Given the description of an element on the screen output the (x, y) to click on. 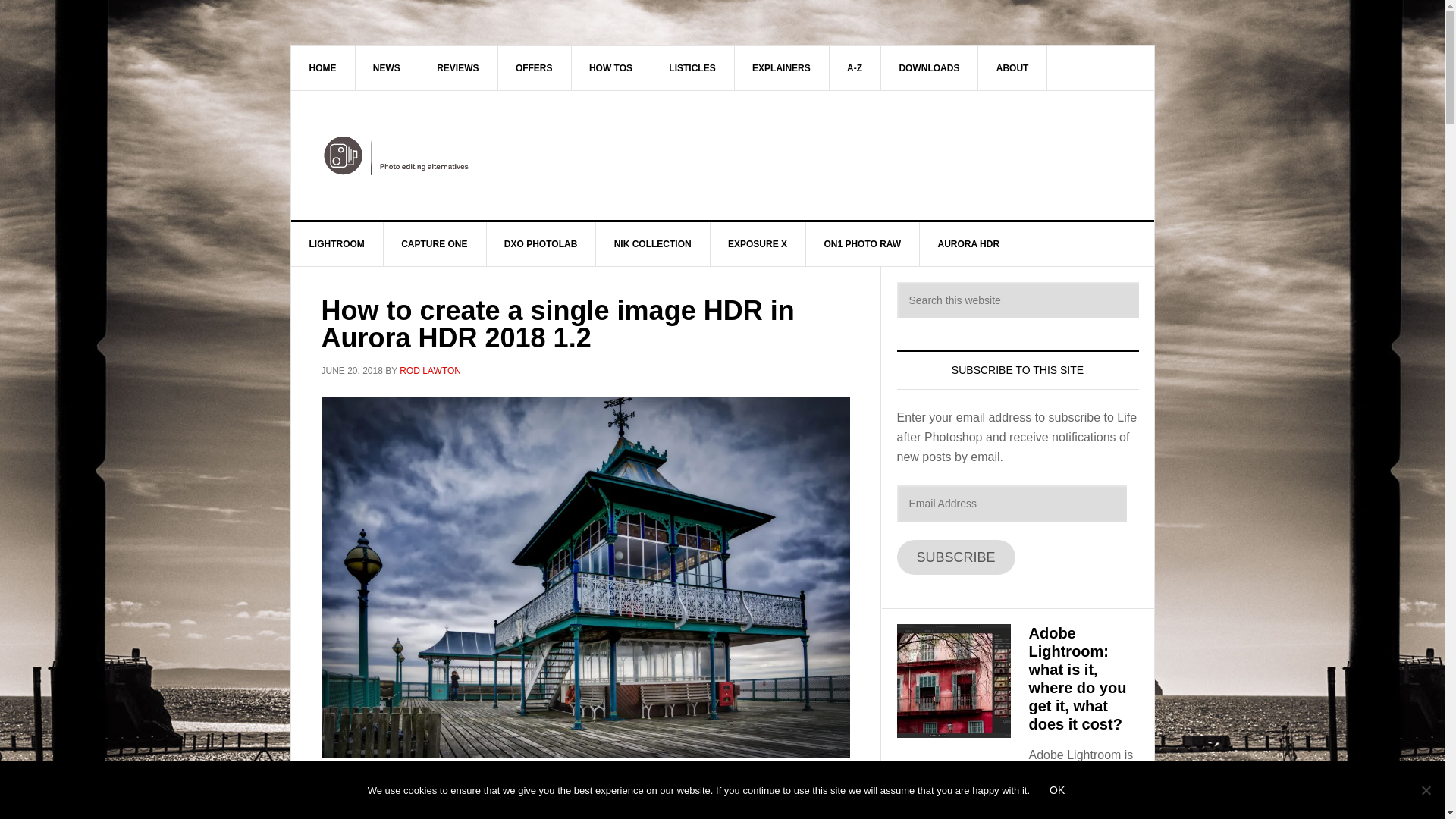
EXPOSURE X (758, 243)
ABOUT (1013, 67)
LIGHTROOM (337, 243)
REVIEWS (458, 67)
A-Z (854, 67)
NEWS (387, 67)
No (1425, 789)
LISTICLES (691, 67)
HOW TOS (610, 67)
NIK COLLECTION (652, 243)
LIFE AFTER PHOTOSHOP (722, 155)
ROD LAWTON (429, 370)
CAPTURE ONE (434, 243)
AURORA HDR (969, 243)
DXO PHOTOLAB (540, 243)
